Given the description of an element on the screen output the (x, y) to click on. 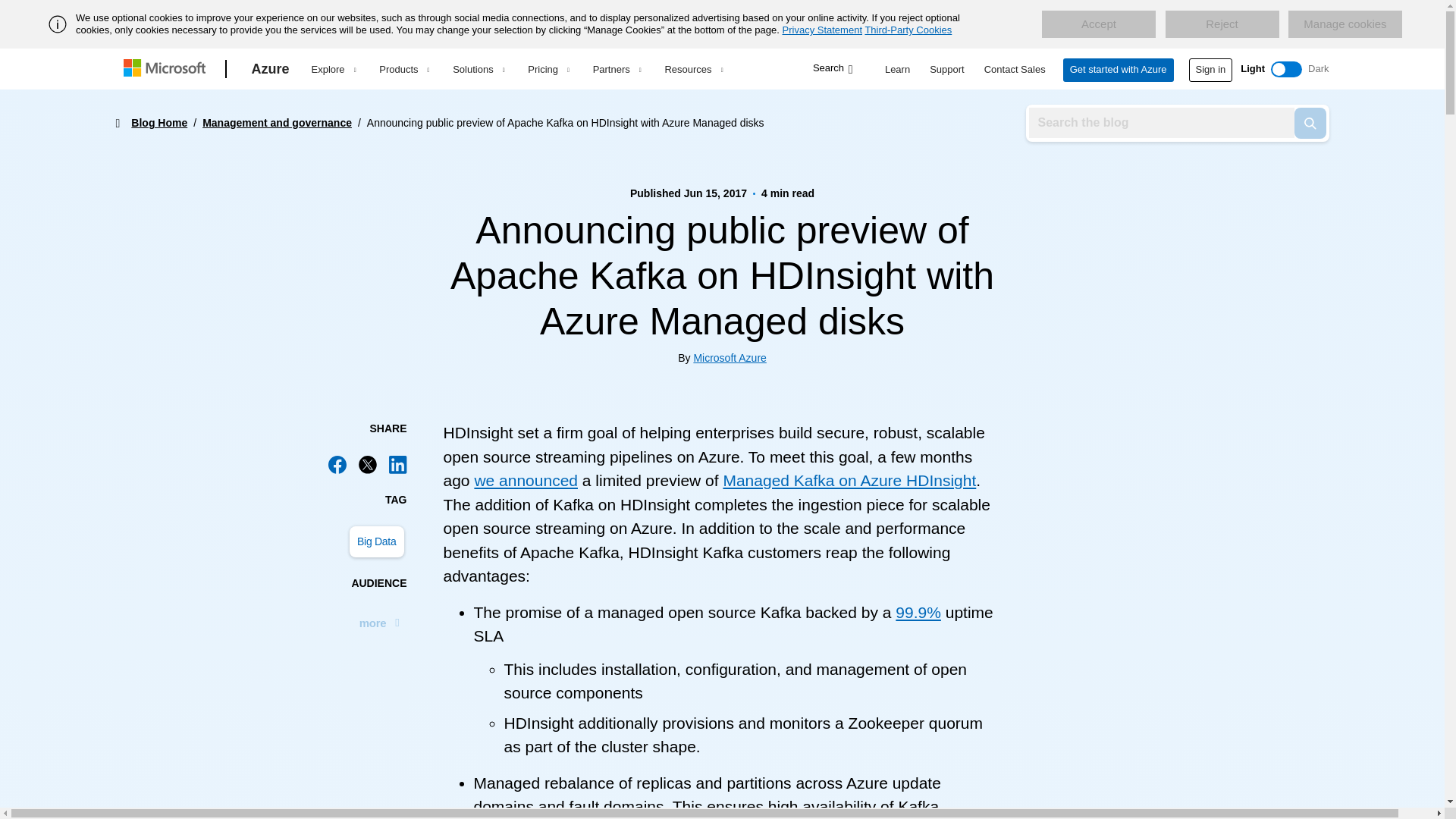
Products (403, 69)
Third-Party Cookies (908, 30)
Explore (333, 69)
Accept (1099, 23)
Azure (270, 69)
Privacy Statement (823, 30)
Microsoft (167, 69)
Reject (1221, 23)
Manage cookies (1345, 23)
